Given the description of an element on the screen output the (x, y) to click on. 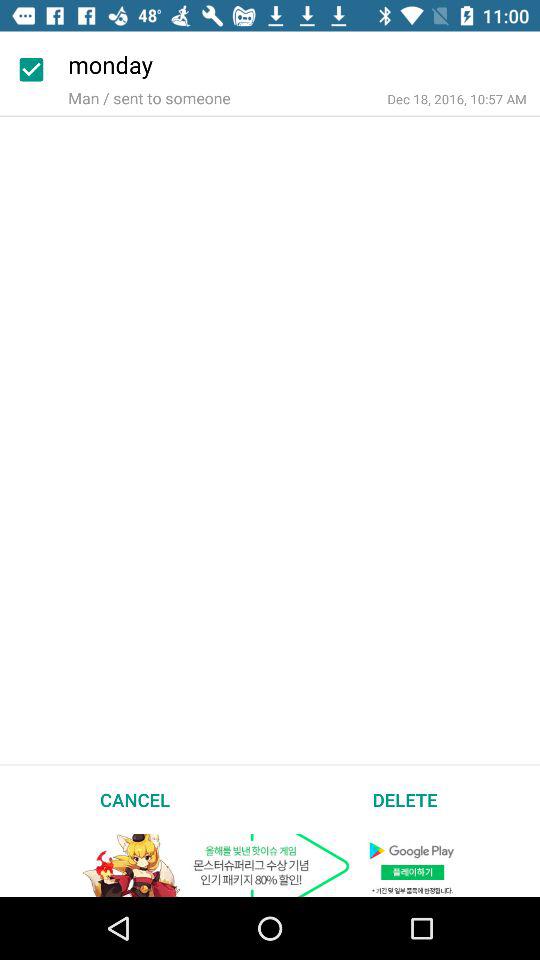
tap the icon next to the delete icon (135, 799)
